Given the description of an element on the screen output the (x, y) to click on. 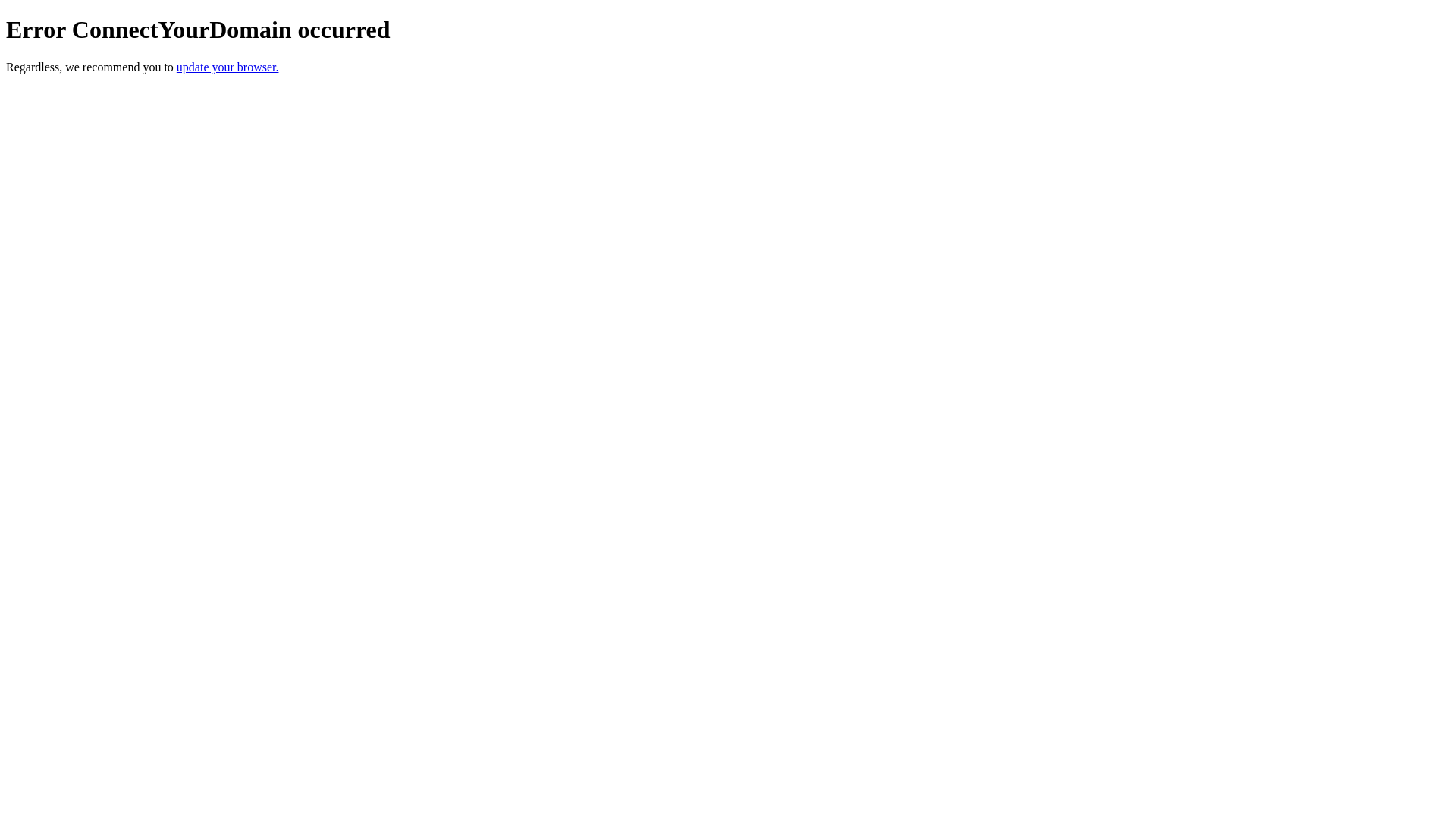
update your browser. Element type: text (227, 66)
